Given the description of an element on the screen output the (x, y) to click on. 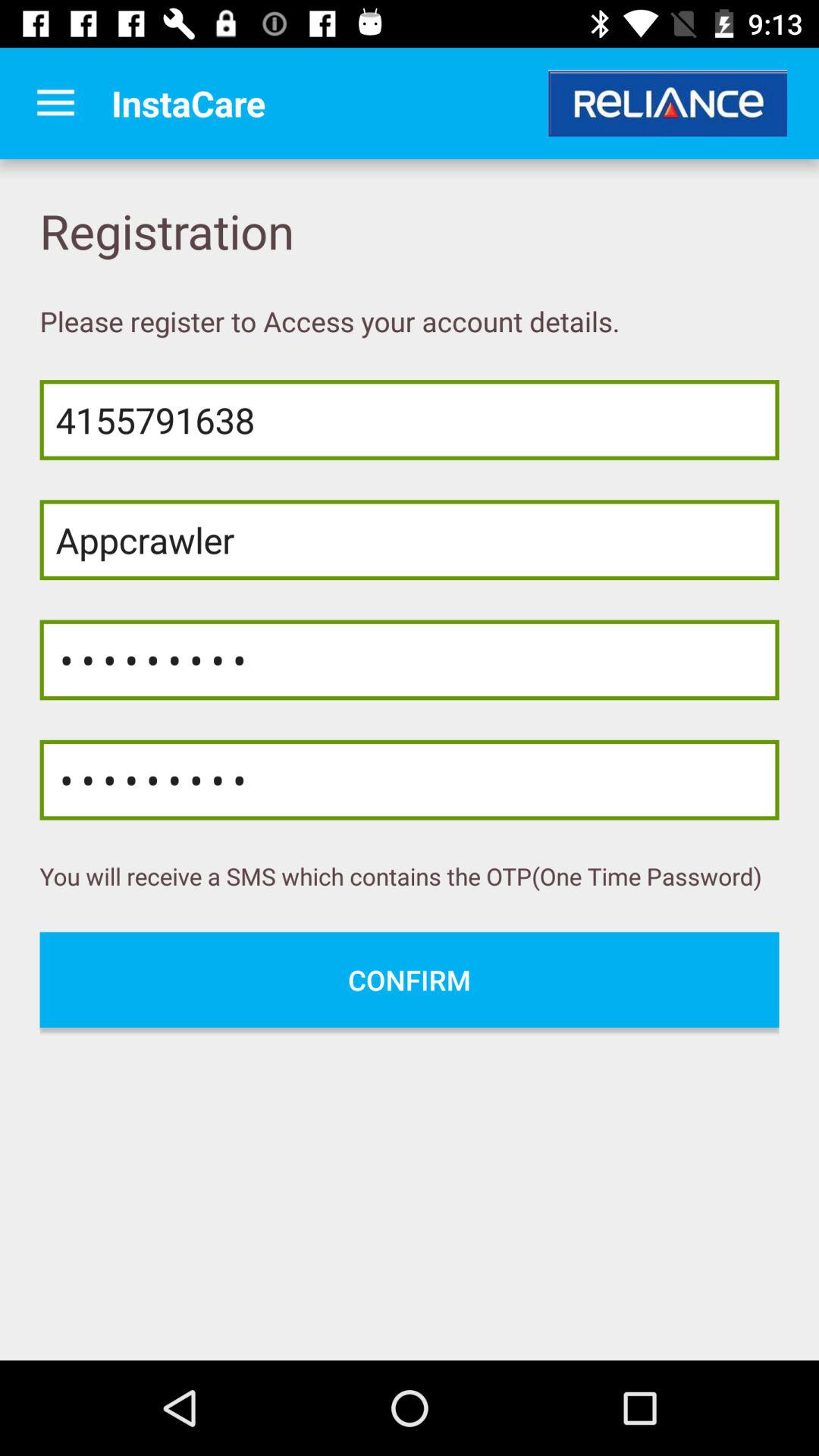
jump to confirm (409, 979)
